Given the description of an element on the screen output the (x, y) to click on. 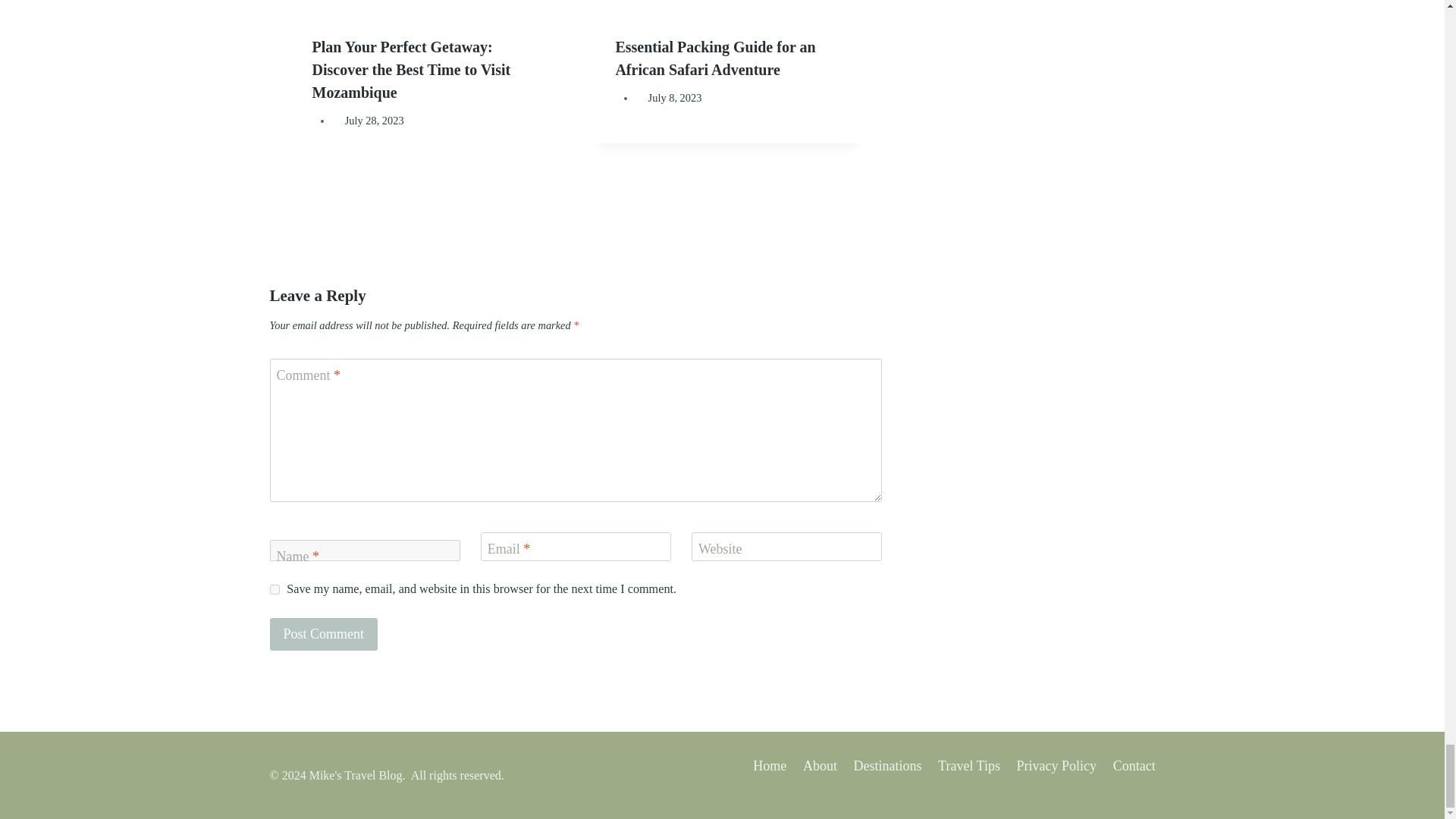
Post Comment (323, 634)
yes (274, 589)
